Given the description of an element on the screen output the (x, y) to click on. 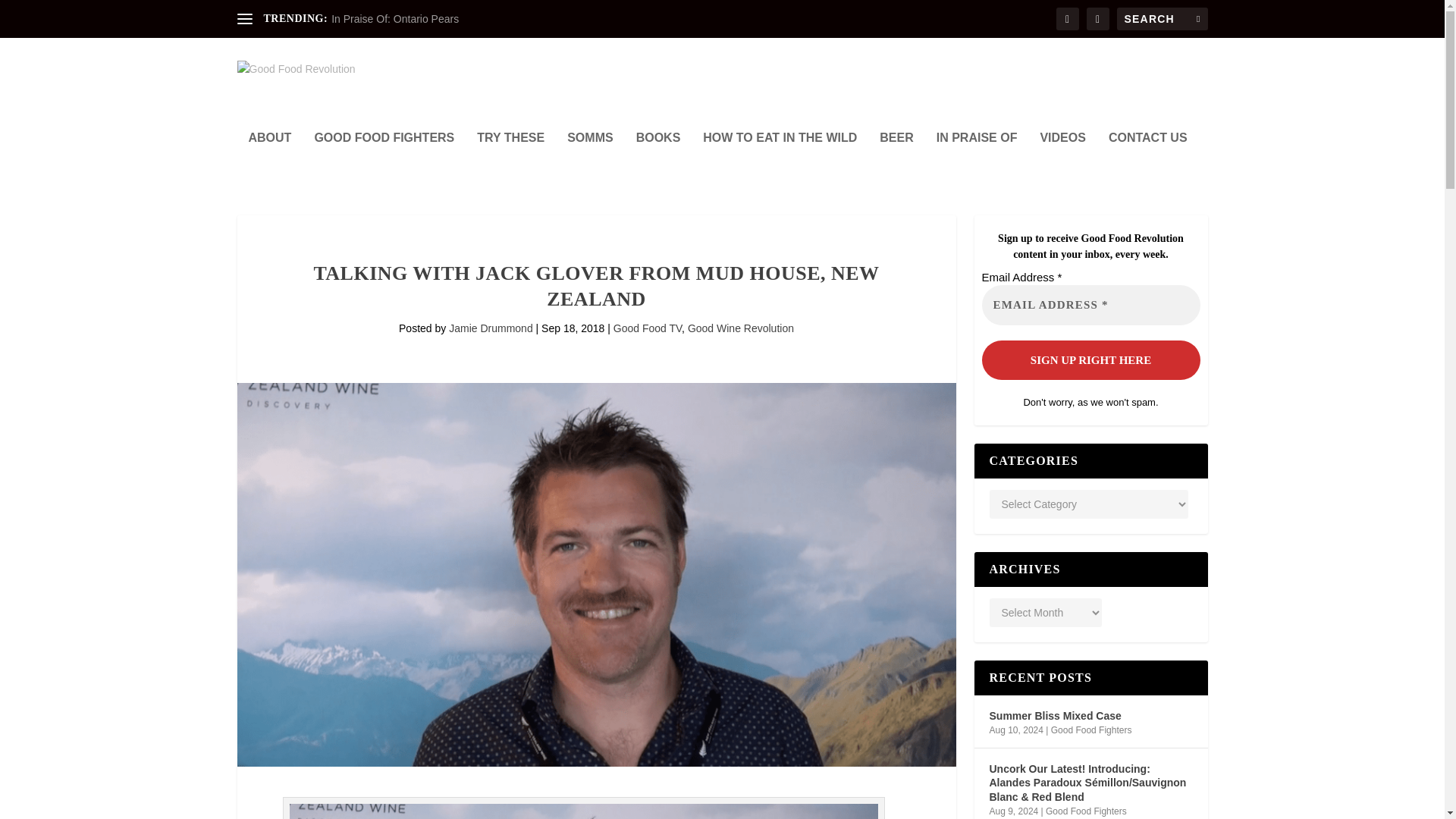
Jamie Drummond (490, 328)
Posts by Jamie Drummond (490, 328)
GOOD FOOD FIGHTERS (384, 158)
Sign Up Right Here (1090, 359)
IN PRAISE OF (976, 158)
Good Food TV (646, 328)
CONTACT US (1148, 158)
HOW TO EAT IN THE WILD (780, 158)
TRY THESE (510, 158)
Search for: (1161, 18)
